Given the description of an element on the screen output the (x, y) to click on. 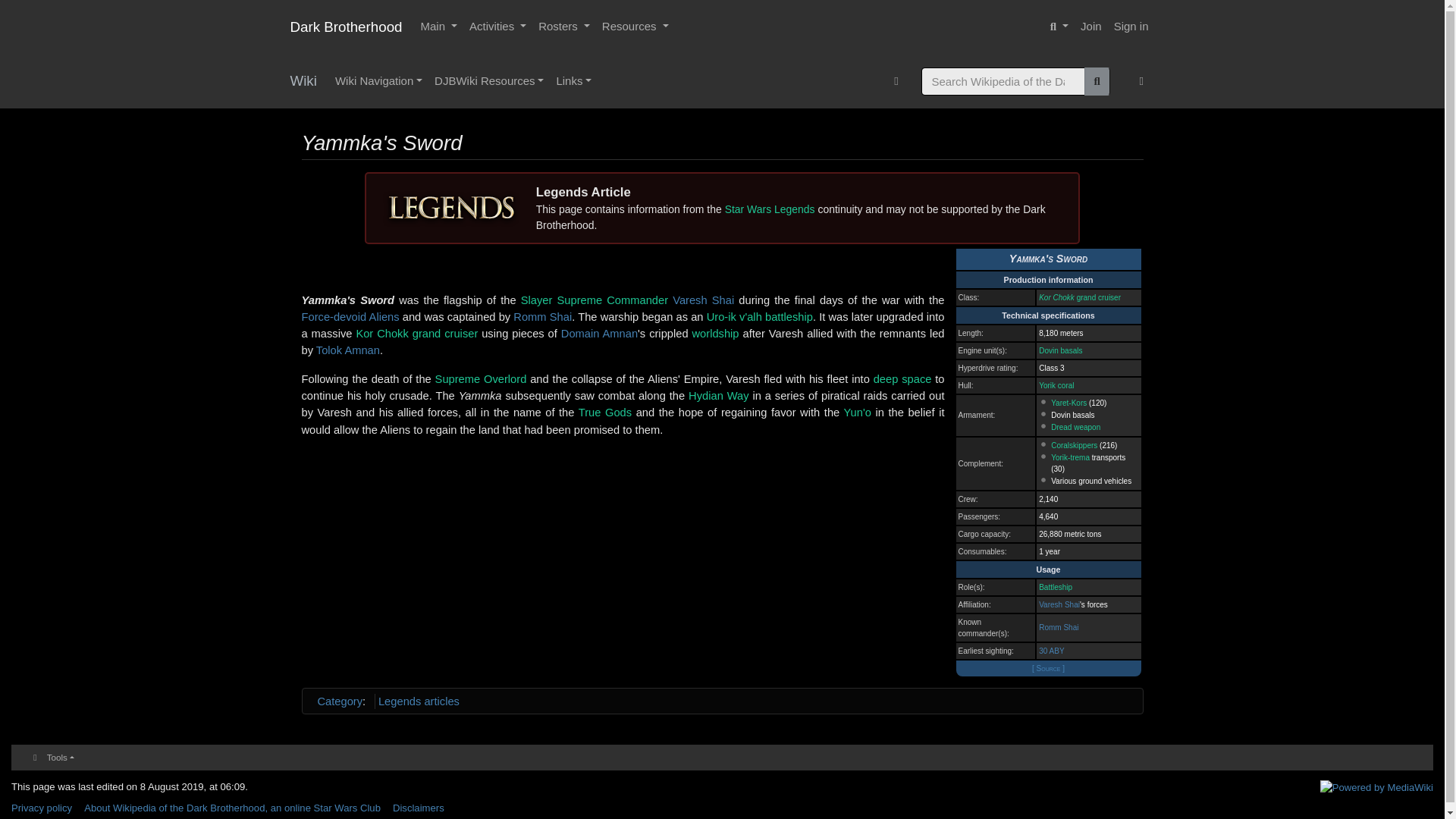
Wiki Navigation (378, 81)
Visit the main page (302, 81)
starwars:Star Wars Legends (770, 209)
starwars:Kor Chokk (1080, 297)
Join (1091, 26)
Dark Brotherhood (345, 27)
starwars:Yorik coral (1056, 385)
Rosters (563, 26)
starwars:Dovin basal (1060, 350)
starwars:Dread weapon (1075, 427)
